Given the description of an element on the screen output the (x, y) to click on. 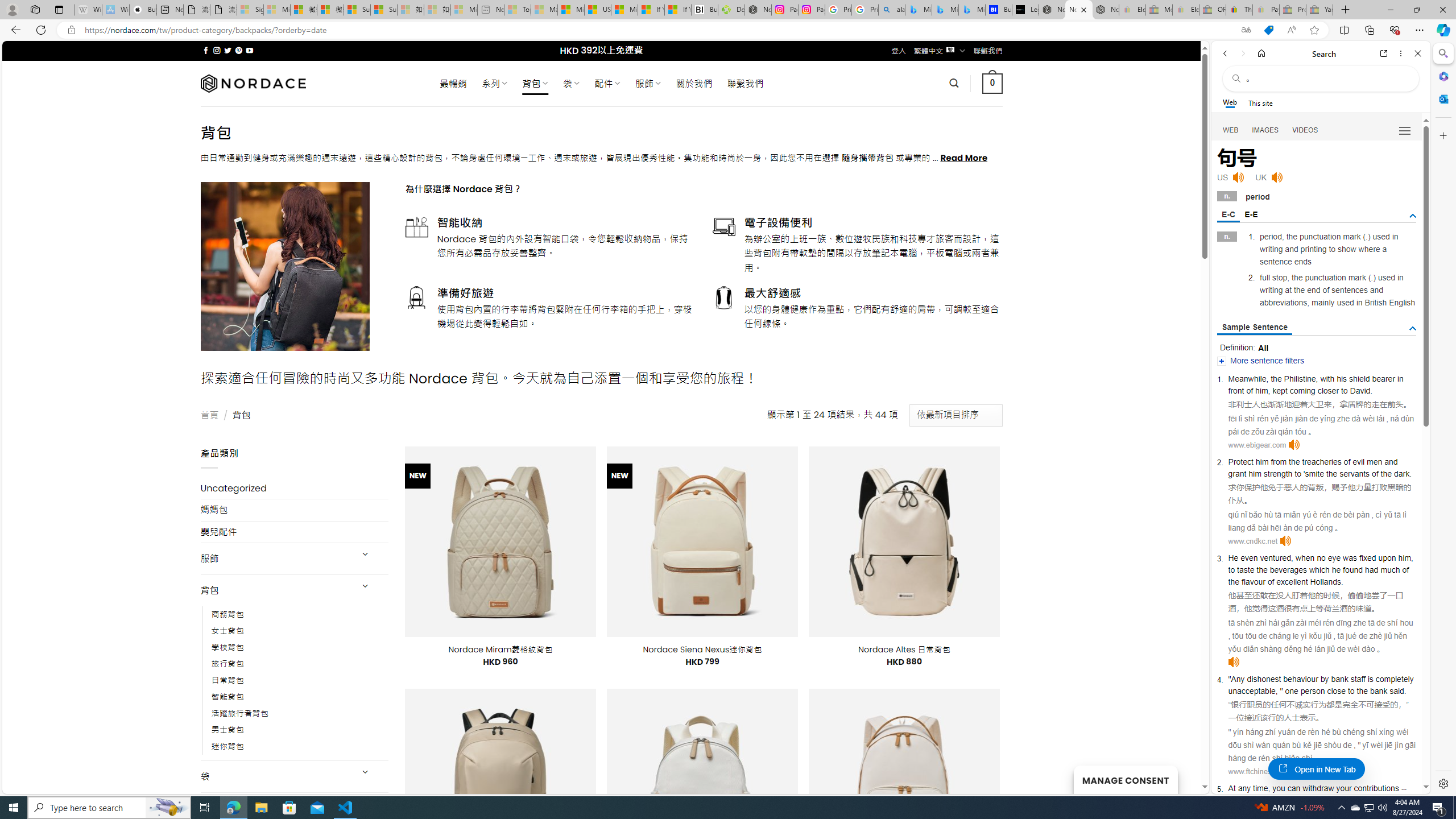
had (1371, 569)
behaviour (1299, 678)
upon (1386, 557)
